Given the description of an element on the screen output the (x, y) to click on. 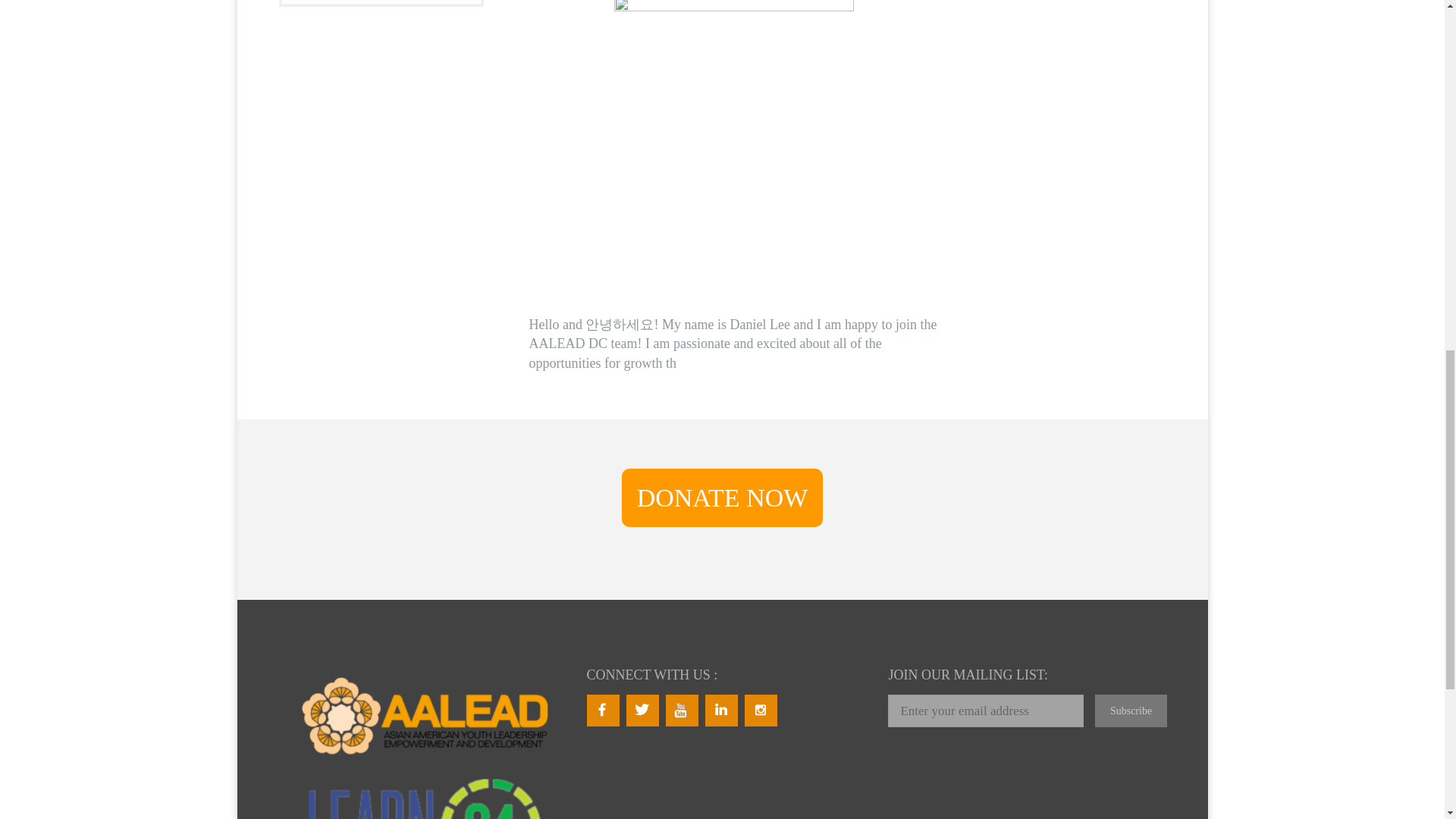
Subscribe (1130, 710)
Enter your email address (985, 710)
